Given the description of an element on the screen output the (x, y) to click on. 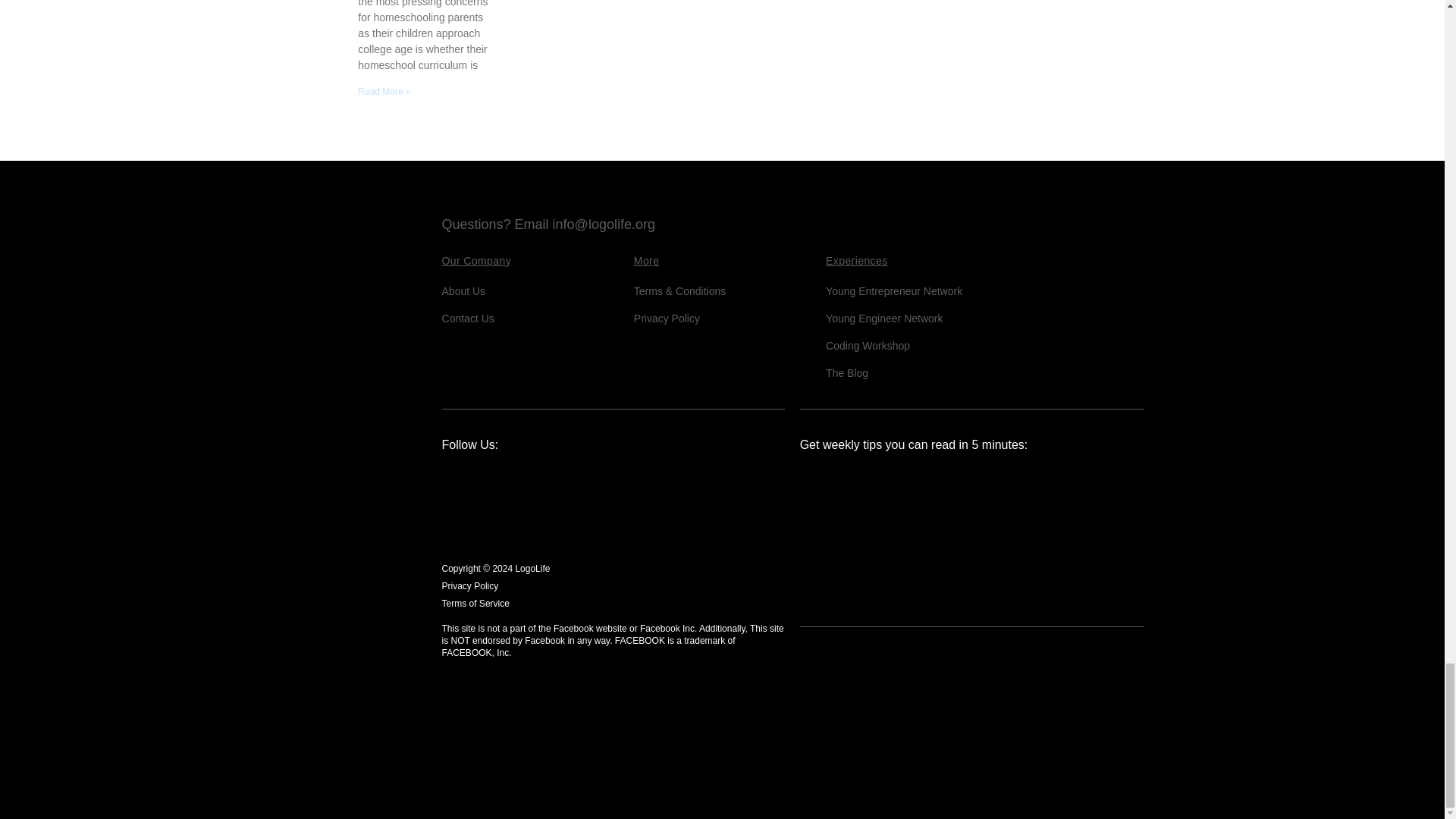
Privacy Policy (666, 318)
About Us (464, 291)
Contact Us (468, 318)
Young Entrepreneur Network (893, 291)
Young Engineer Network (883, 318)
The Blog (846, 373)
Form 0 (971, 539)
Coding Workshop (867, 345)
